Given the description of an element on the screen output the (x, y) to click on. 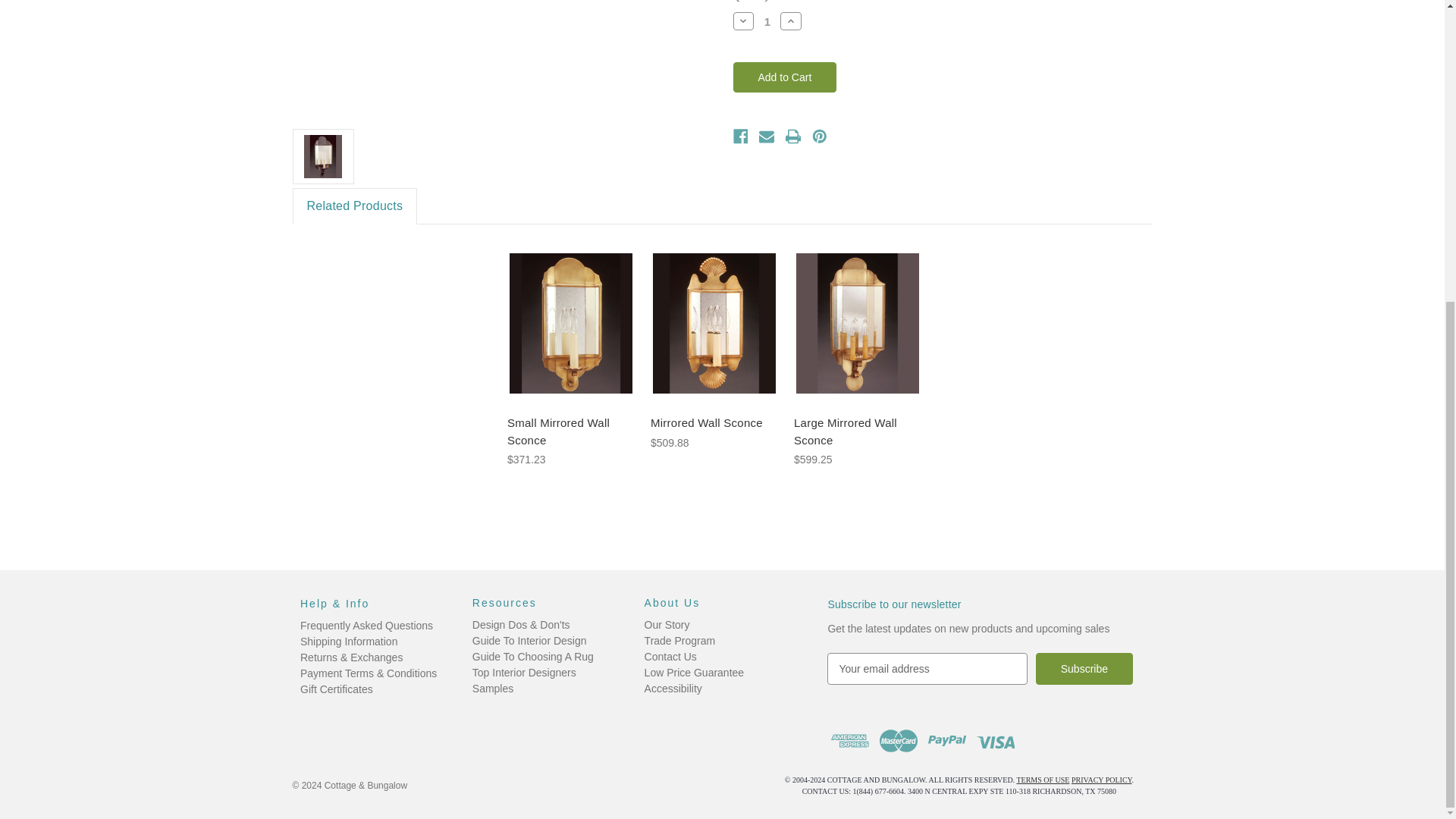
Subscribe (1083, 668)
Medium Mirrored Wall Sconce (502, 58)
1 (767, 21)
Add to Cart (783, 77)
